Given the description of an element on the screen output the (x, y) to click on. 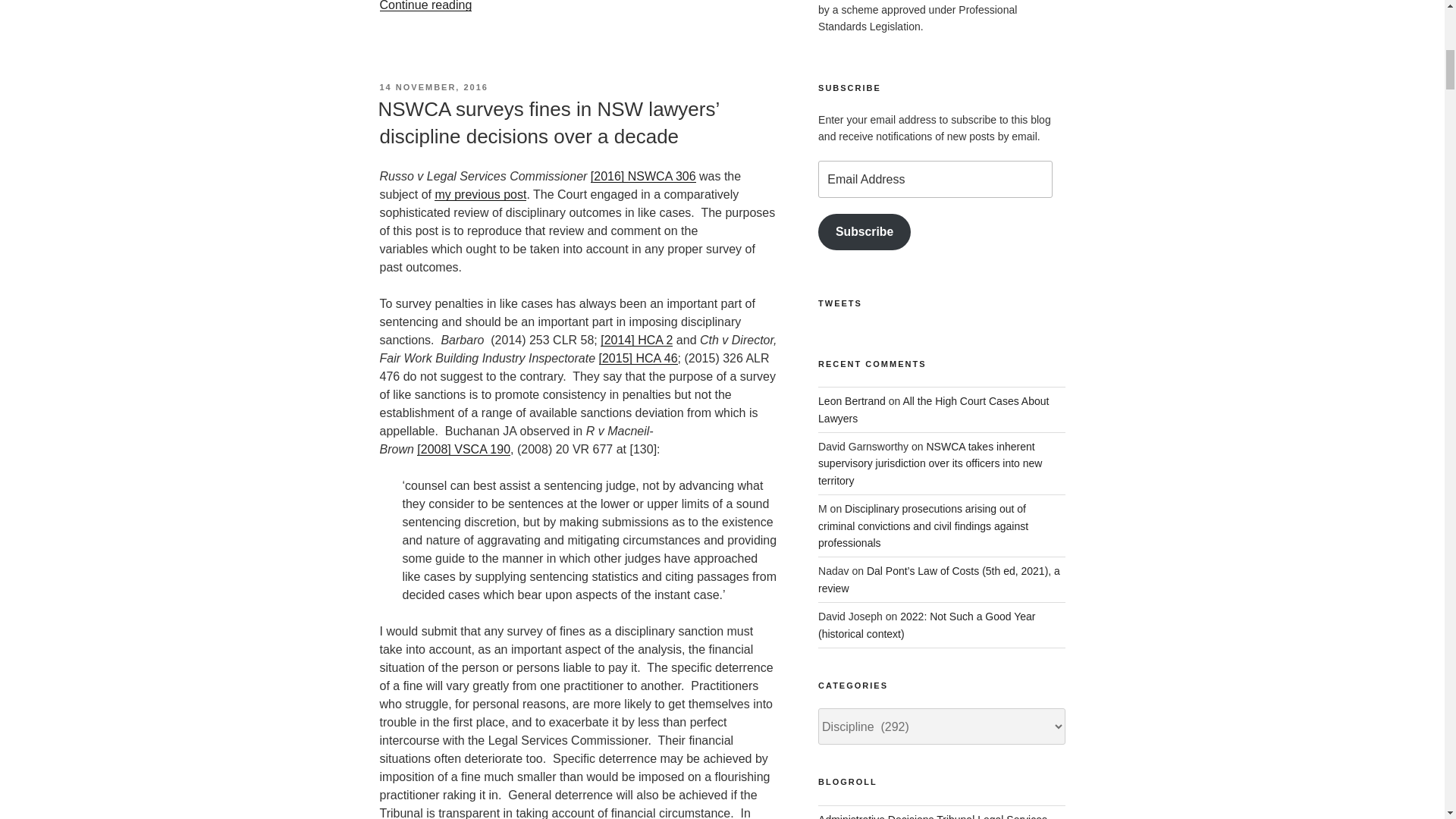
Decisions about the discipline of NSW lawyers (932, 816)
14 NOVEMBER, 2016 (432, 86)
my previous post (479, 194)
